Given the description of an element on the screen output the (x, y) to click on. 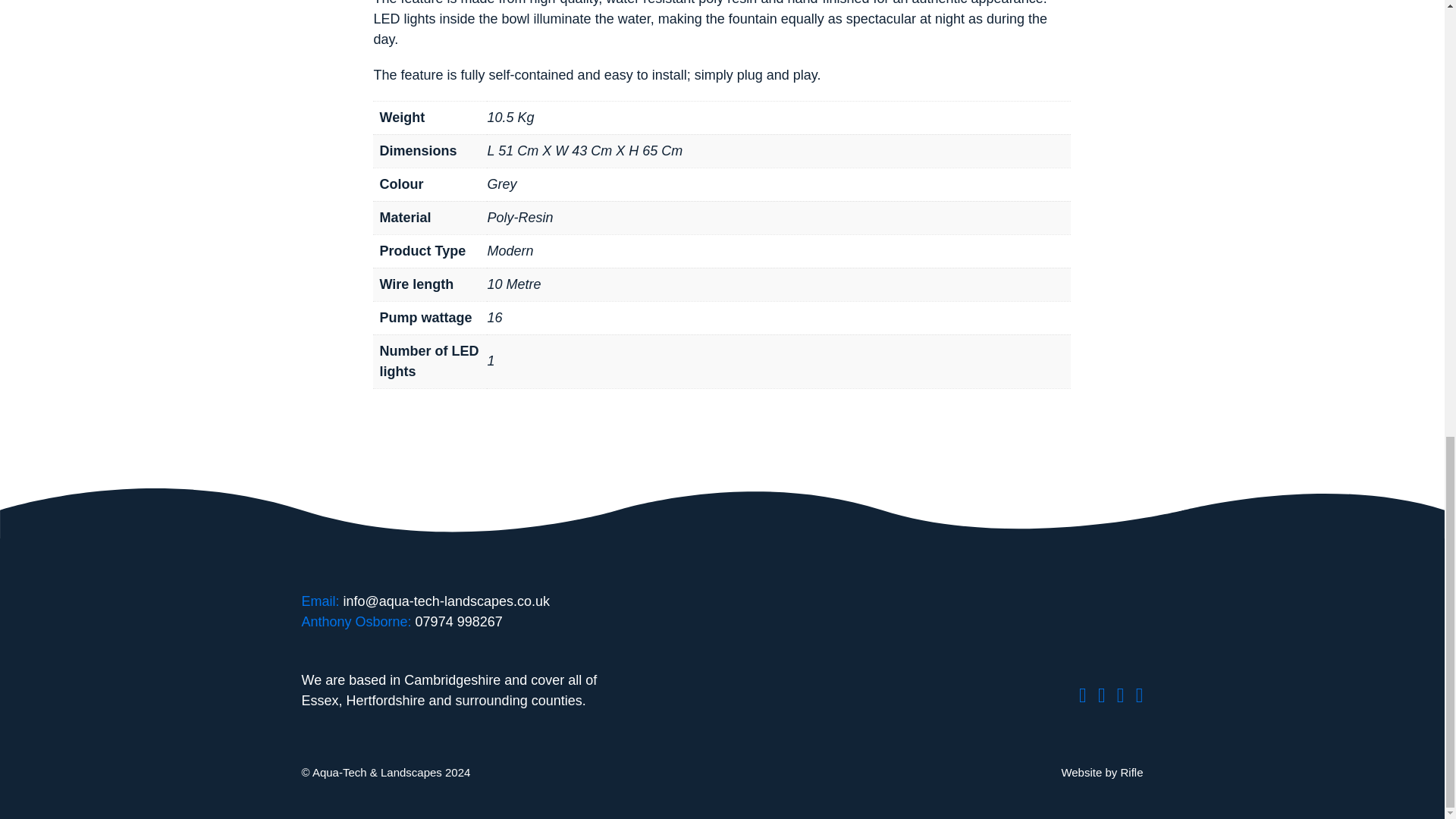
Website by Rifle (1101, 771)
